Given the description of an element on the screen output the (x, y) to click on. 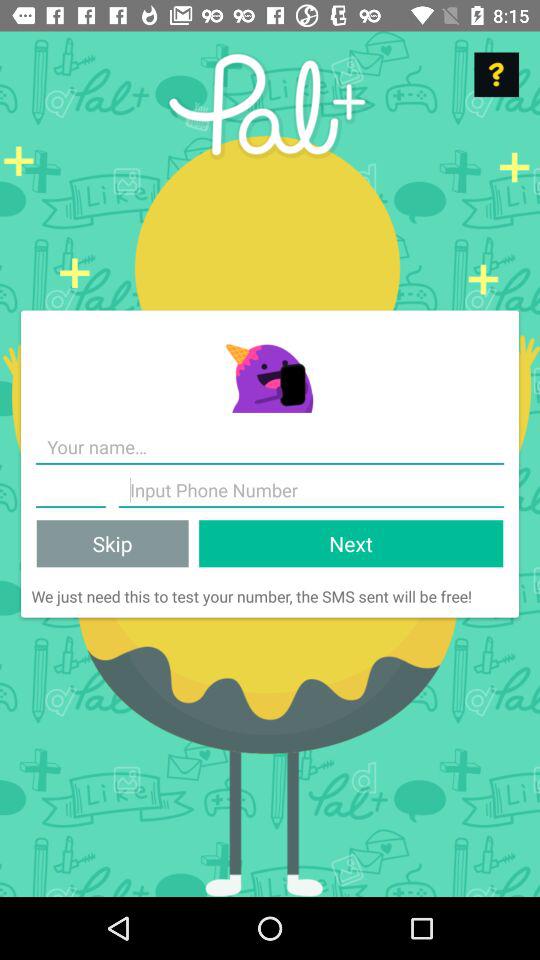
click the item at the top right corner (496, 74)
